Given the description of an element on the screen output the (x, y) to click on. 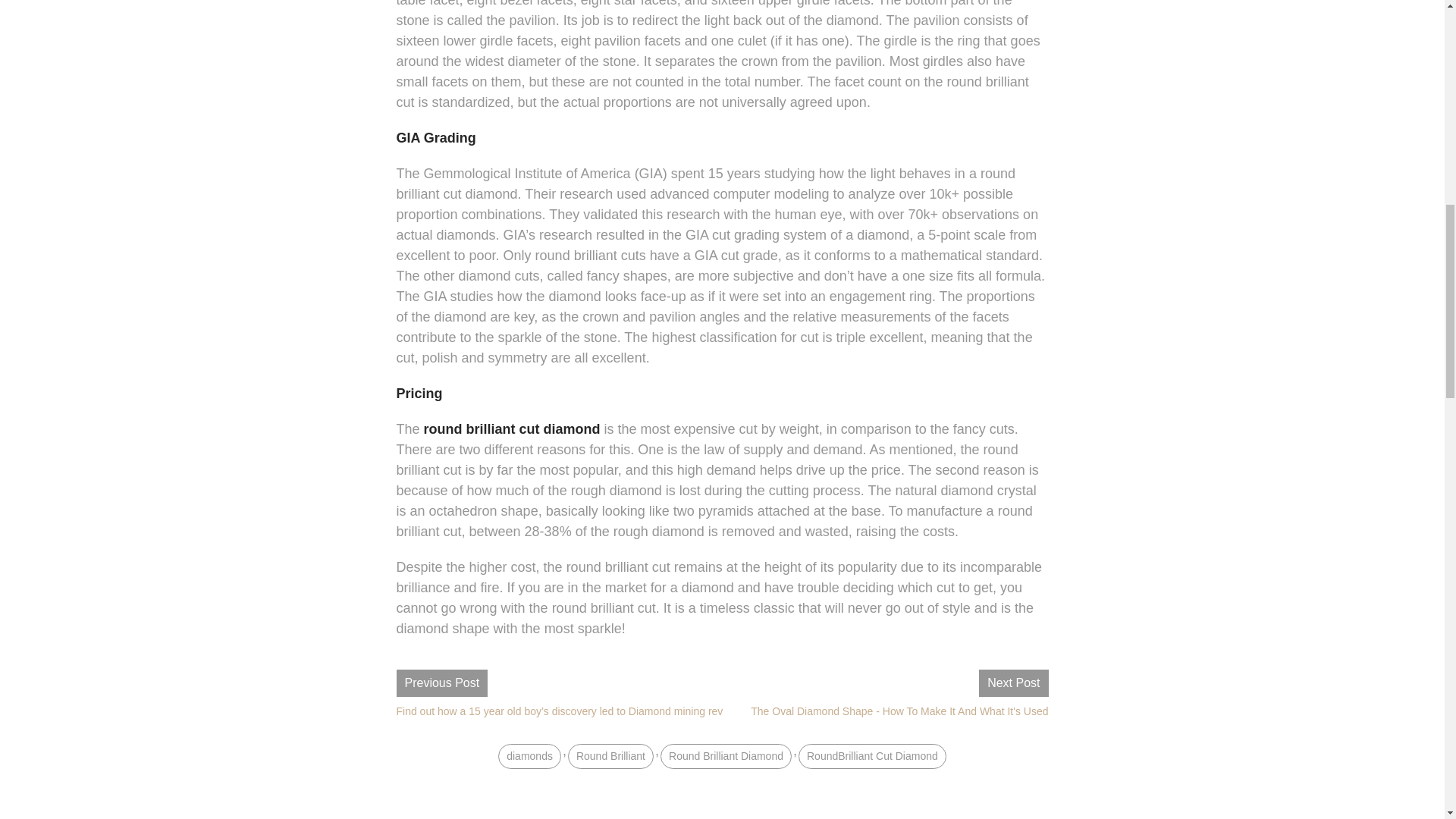
diamonds (528, 756)
Next Post (1013, 682)
The Oval Diamond Shape - How To Make It And What It's Used (899, 711)
Round Brilliant Diamond (726, 756)
Previous Post (441, 682)
Round Brilliant (610, 756)
RoundBrilliant Cut Diamond (871, 756)
round brilliant cut diamond (511, 428)
